Given the description of an element on the screen output the (x, y) to click on. 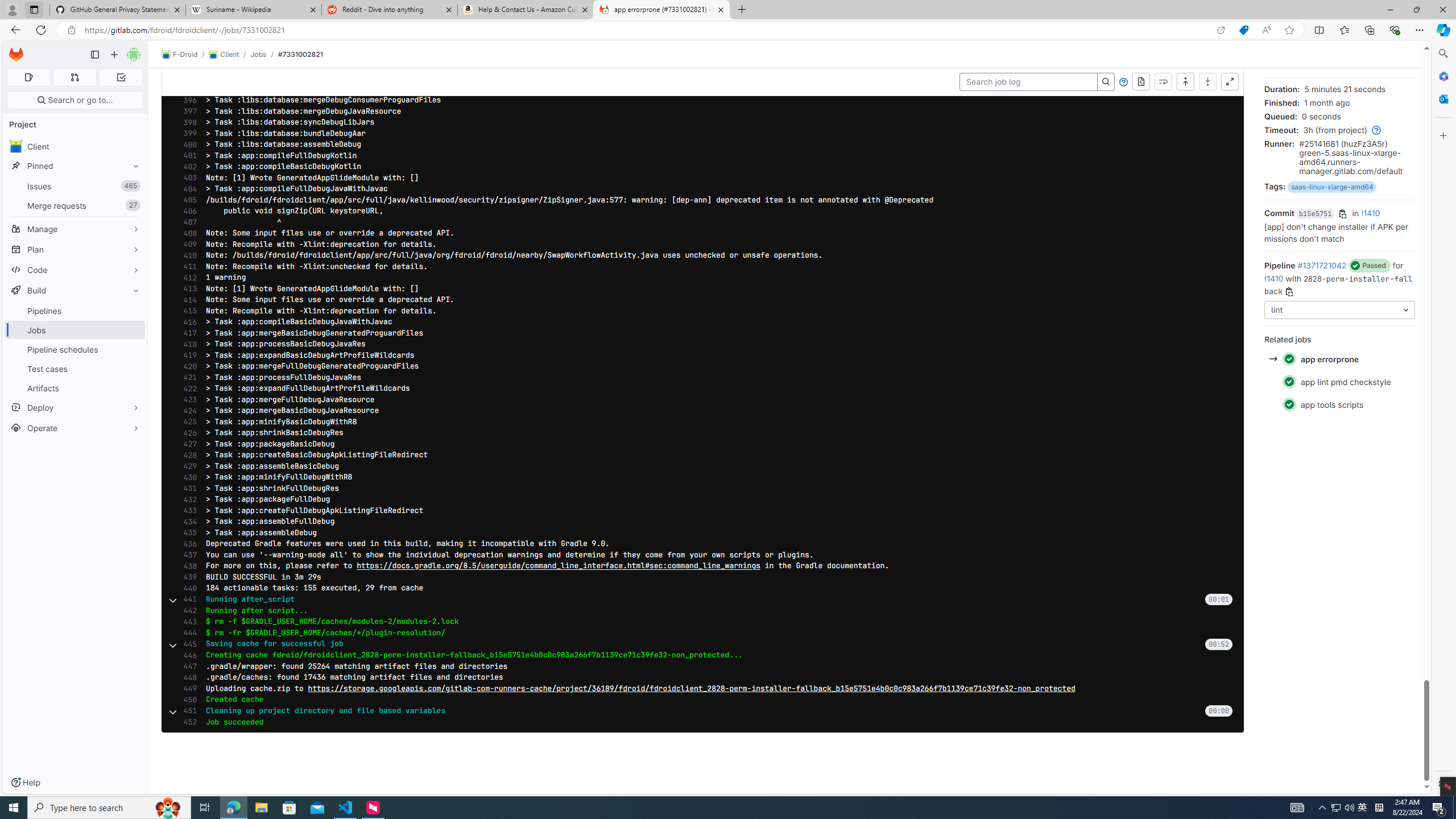
Scroll to next failure (1163, 81)
407 (186, 222)
Status: Passed (1288, 404)
402 (186, 166)
To-Do list 0 (120, 76)
406 (186, 211)
441 (186, 599)
Client/ (229, 54)
449 (186, 688)
